Given the description of an element on the screen output the (x, y) to click on. 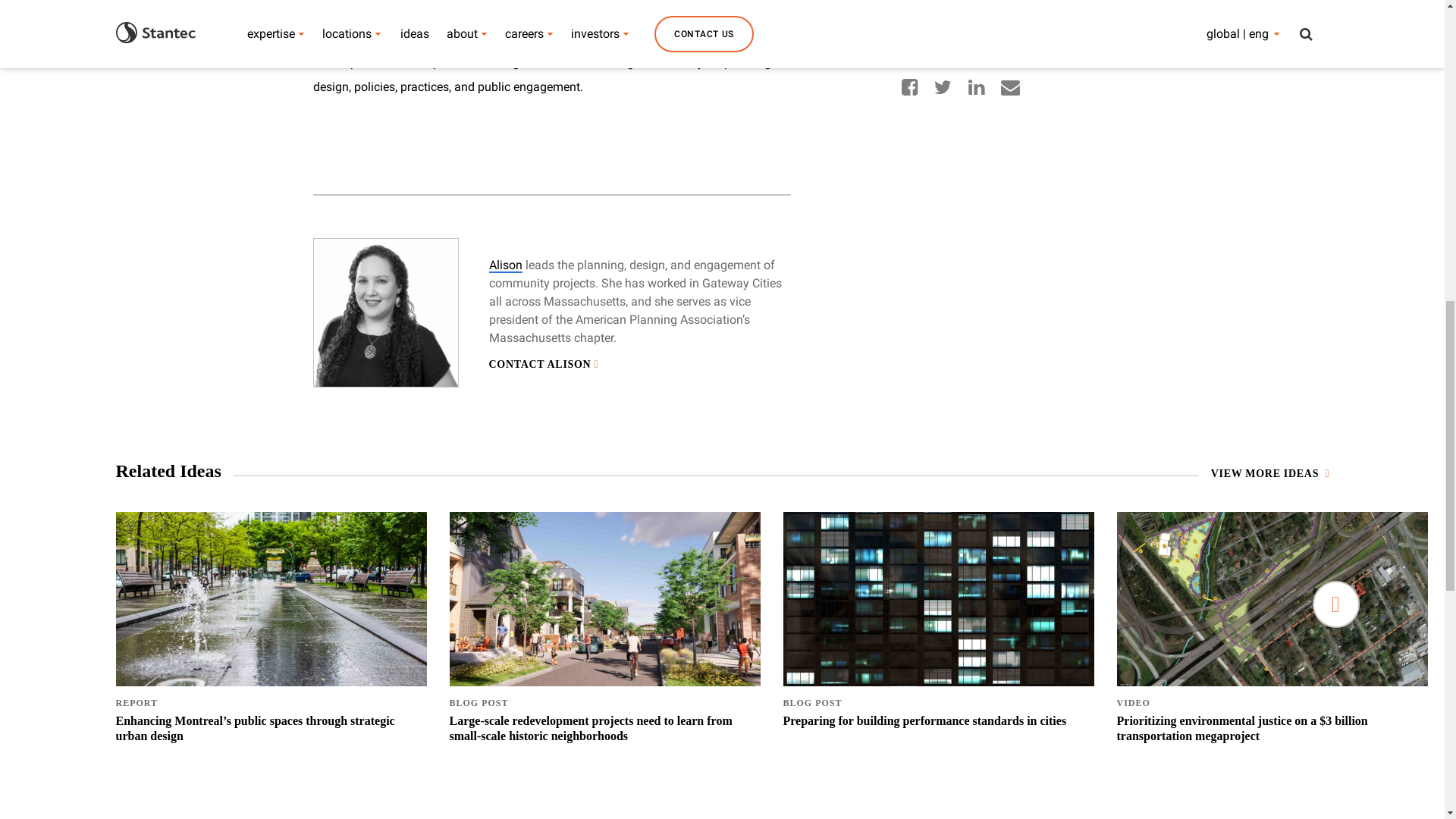
.  (156, 2)
